Given the description of an element on the screen output the (x, y) to click on. 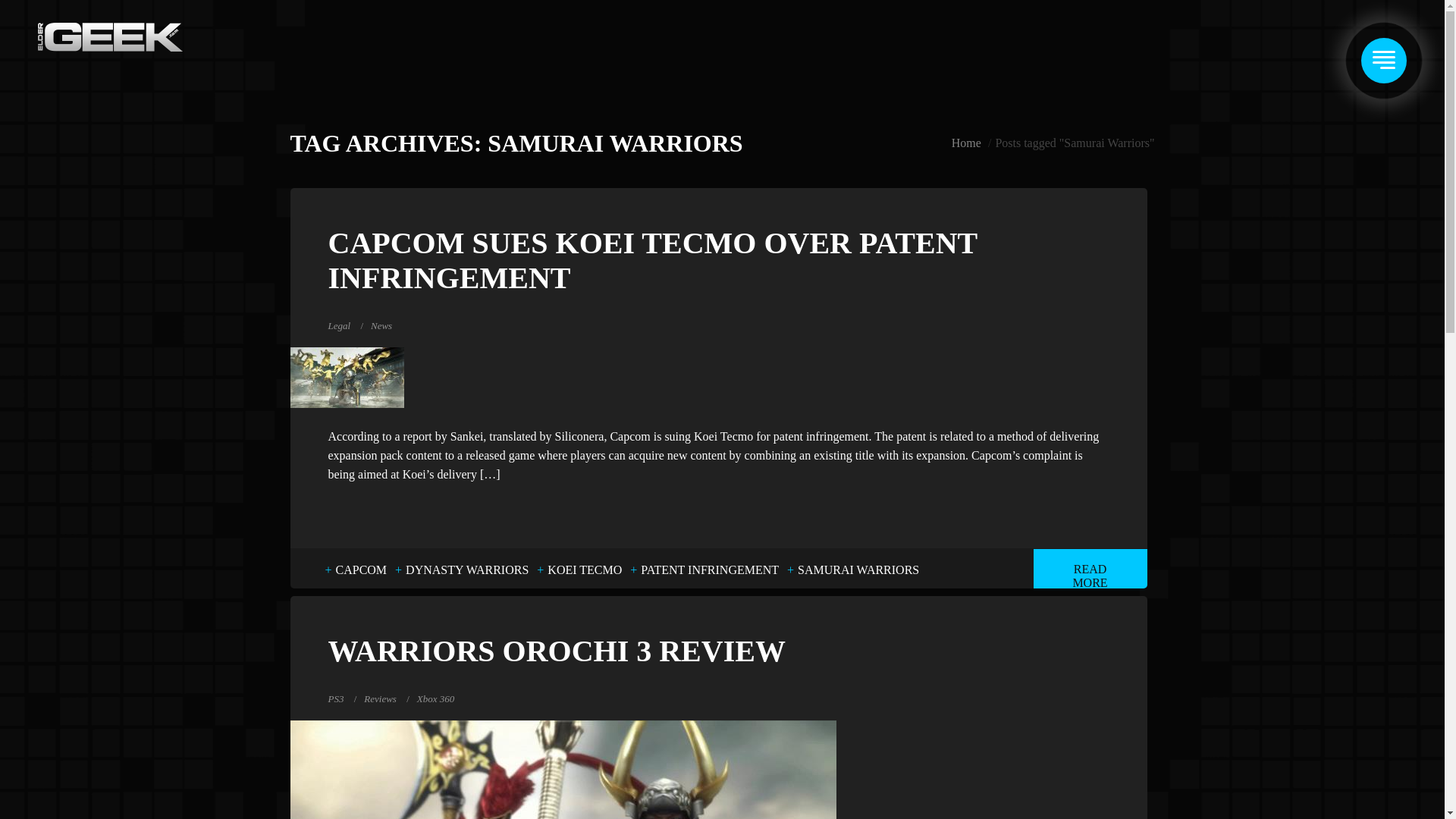
CAPCOM (360, 569)
CAPCOM SUES KOEI TECMO OVER PATENT INFRINGEMENT (717, 260)
Xbox 360 (435, 698)
News (381, 325)
Home (966, 142)
PS3 (335, 698)
WARRIORS OROCHI 3 REVIEW (717, 651)
READ MORE (1089, 568)
DYNASTY WARRIORS (466, 569)
PATENT INFRINGEMENT (709, 569)
Legal (338, 325)
Reviews (380, 698)
KOEI TECMO (584, 569)
SAMURAI WARRIORS (858, 569)
